Given the description of an element on the screen output the (x, y) to click on. 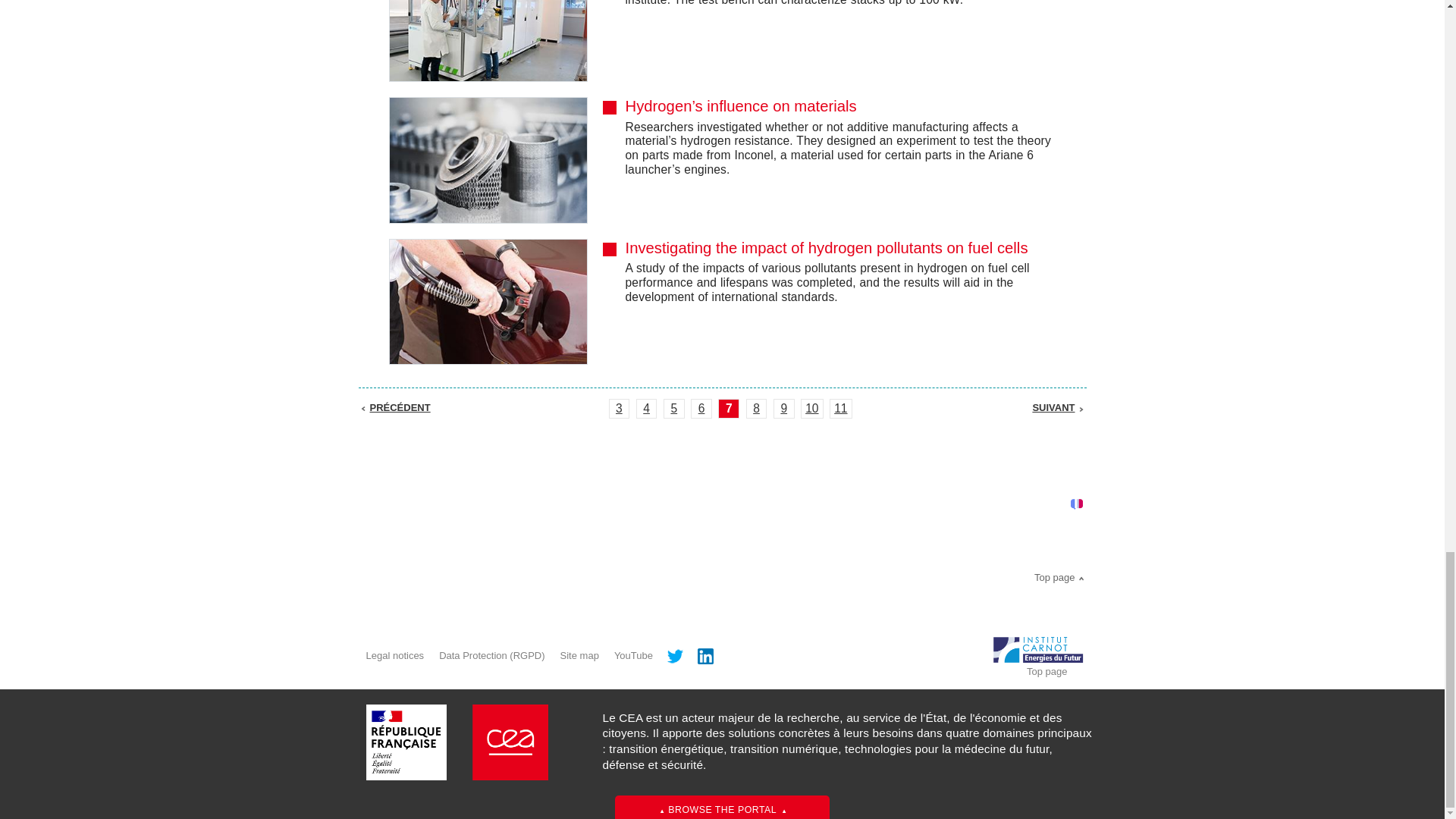
New test bench for high-power fuel cells (842, 2)
New test bench for high-power fuel cells (487, 41)
